Given the description of an element on the screen output the (x, y) to click on. 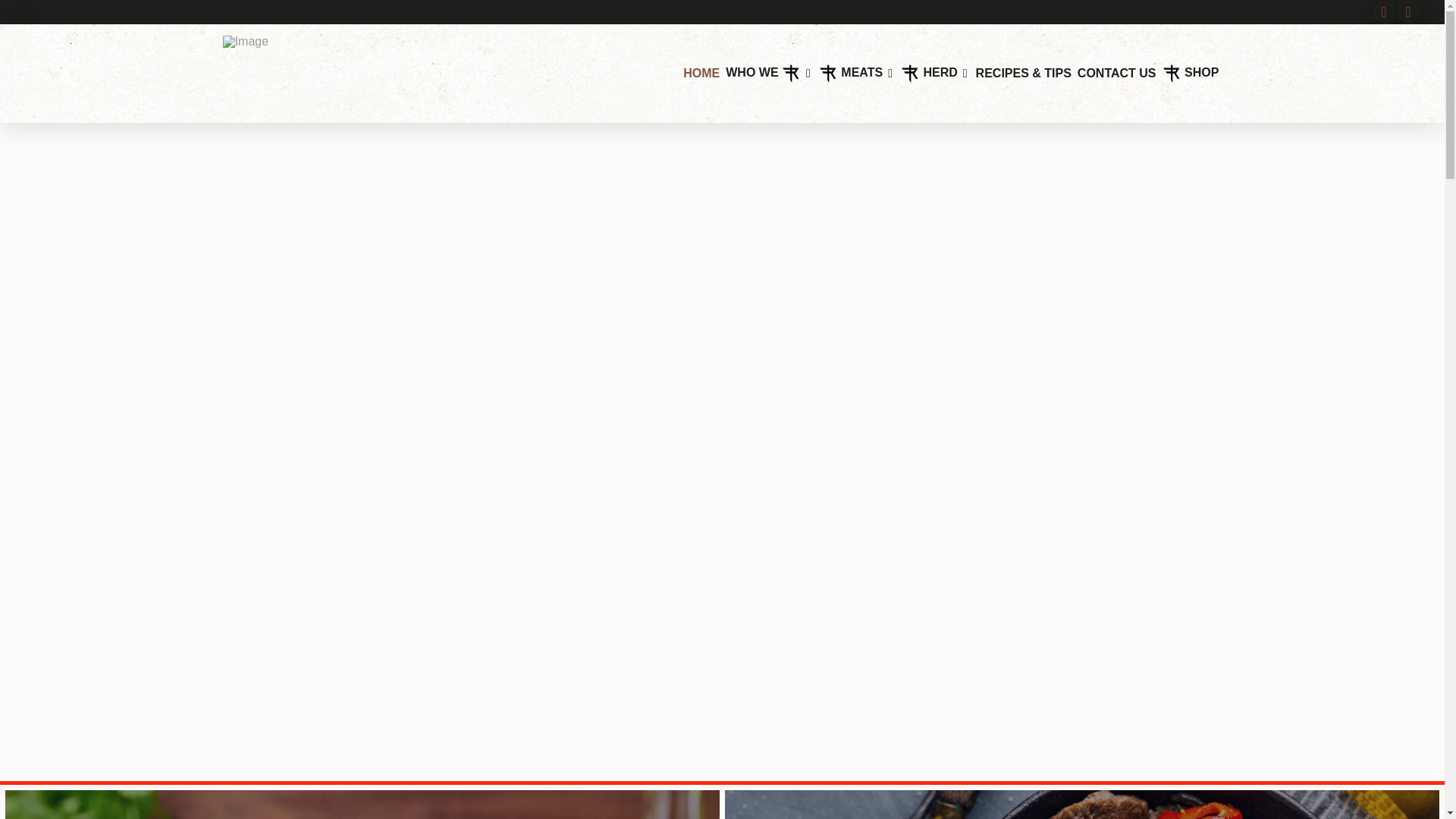
SHOP (1190, 73)
HOME (700, 73)
HERD (935, 73)
CONTACT US (1116, 73)
MEATS (856, 73)
WHO WE (768, 73)
